Given the description of an element on the screen output the (x, y) to click on. 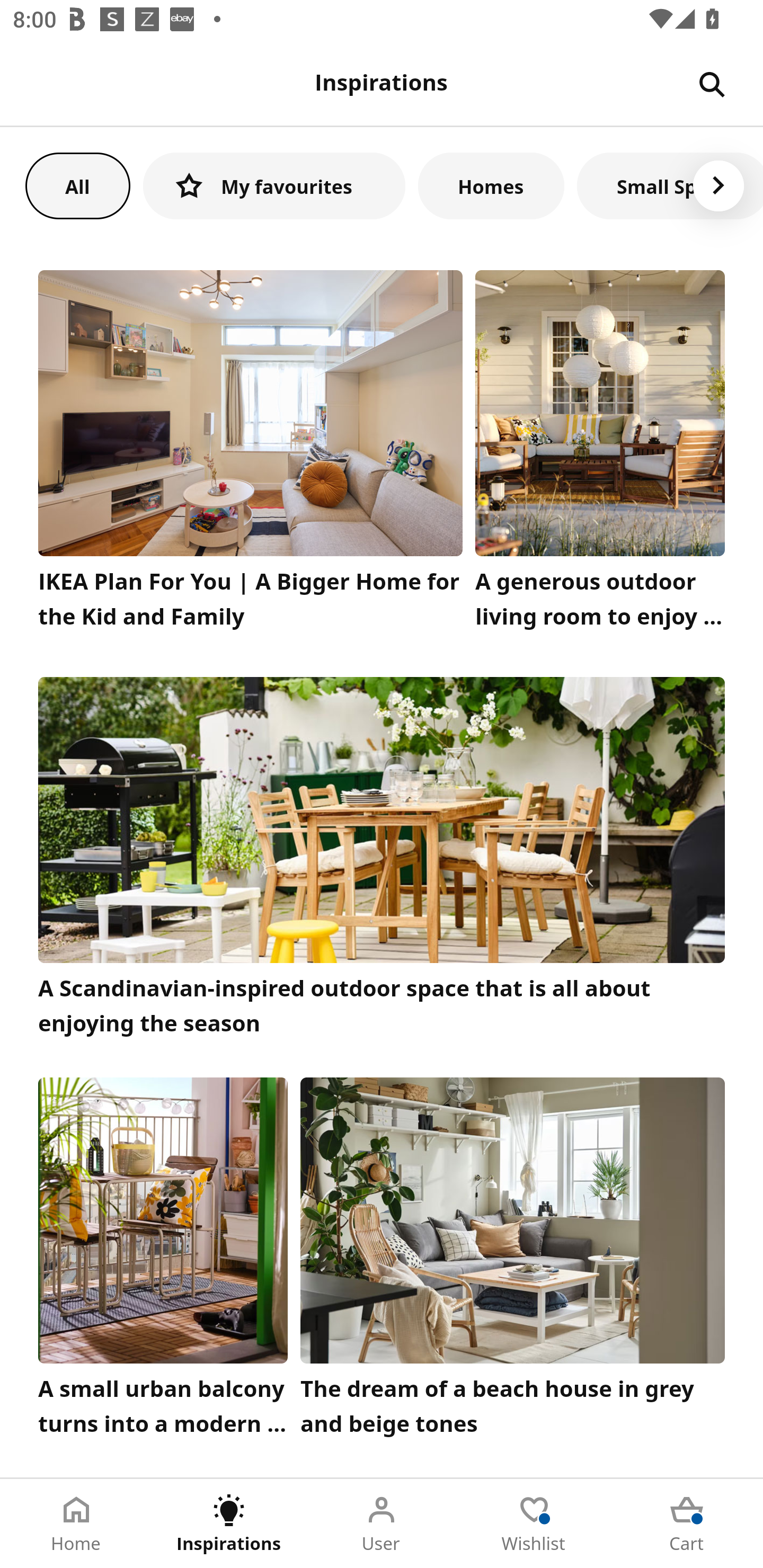
All (77, 185)
My favourites (274, 185)
Homes (491, 185)
The dream of a beach house in grey and beige tones (512, 1261)
Home
Tab 1 of 5 (76, 1522)
Inspirations
Tab 2 of 5 (228, 1522)
User
Tab 3 of 5 (381, 1522)
Wishlist
Tab 4 of 5 (533, 1522)
Cart
Tab 5 of 5 (686, 1522)
